Given the description of an element on the screen output the (x, y) to click on. 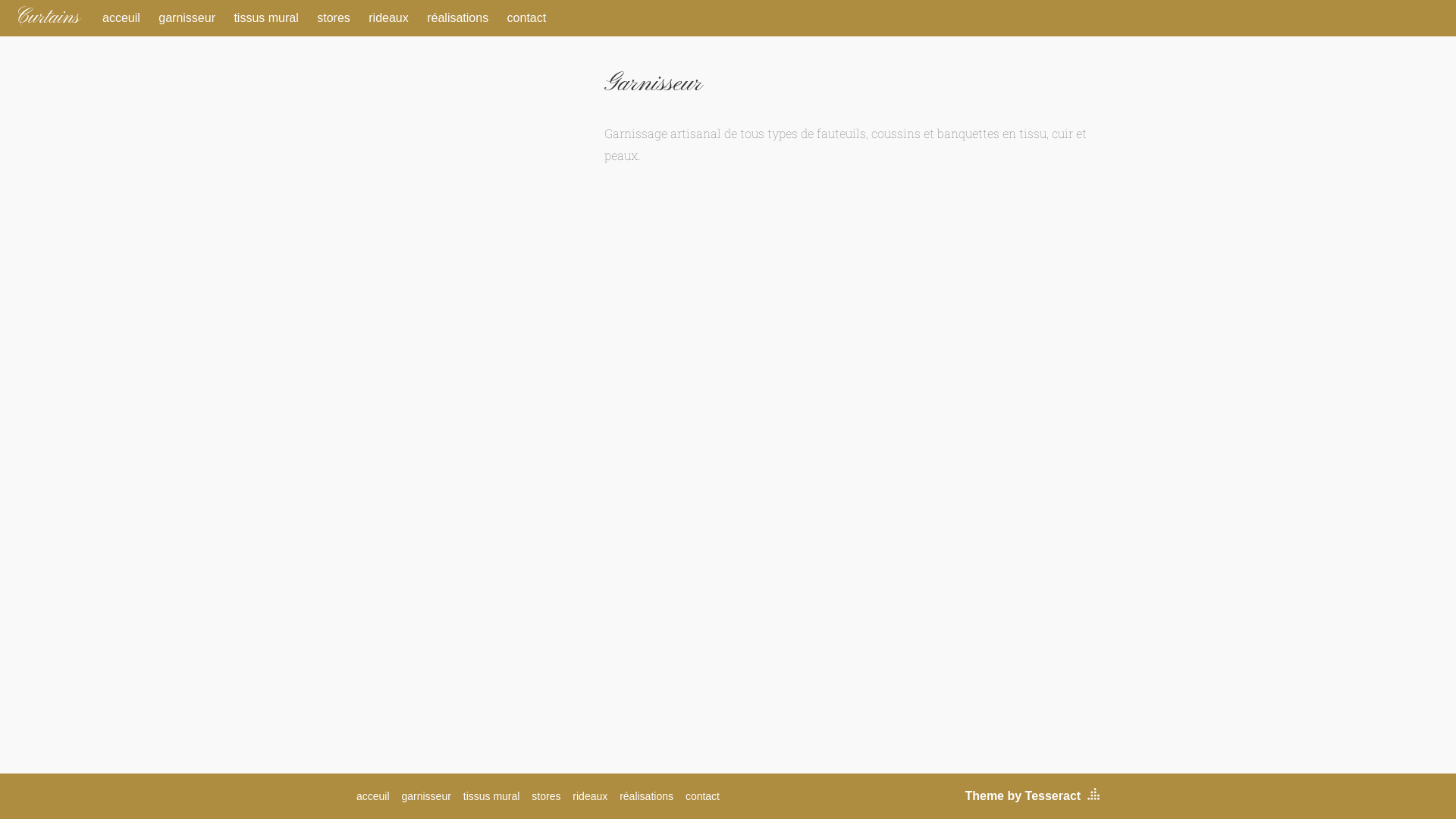
acceuil Element type: text (120, 18)
contact Element type: text (526, 18)
rideaux Element type: text (387, 18)
acceuil Element type: text (372, 796)
Curtains Element type: text (47, 17)
stores Element type: text (333, 18)
contact Element type: text (702, 796)
tissus mural Element type: text (491, 796)
garnisseur Element type: text (186, 18)
stores Element type: text (545, 796)
garnisseur Element type: text (425, 796)
Theme by Tesseract Element type: text (1022, 795)
tissus mural Element type: text (265, 18)
rideaux Element type: text (589, 796)
